Given the description of an element on the screen output the (x, y) to click on. 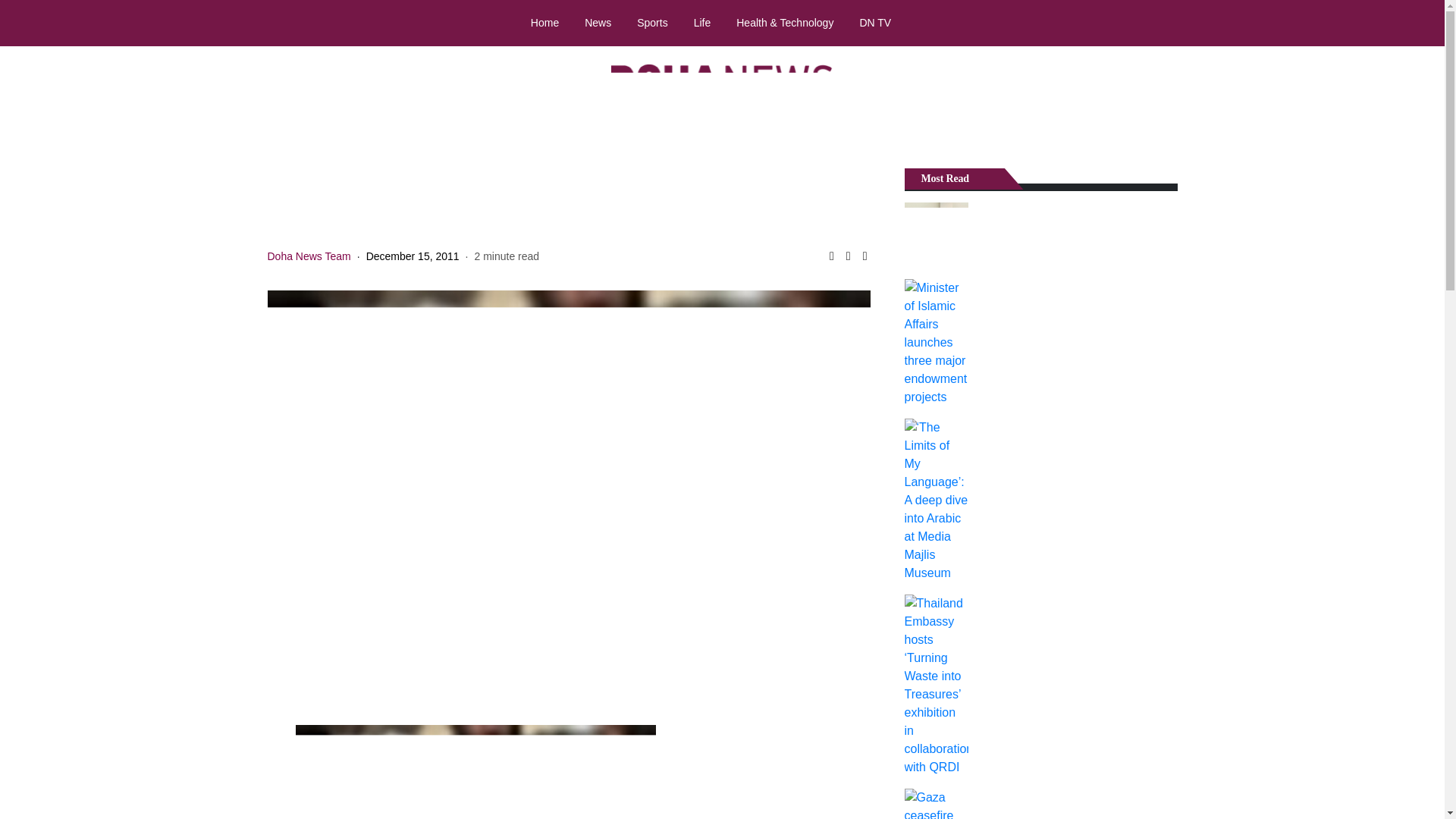
Home (545, 22)
Sports (651, 22)
Life (702, 22)
December 15, 2011 (413, 256)
News (598, 22)
Doha News Team (308, 256)
DN TV (875, 22)
View all posts by Doha News Team (308, 256)
Search (1417, 23)
